Given the description of an element on the screen output the (x, y) to click on. 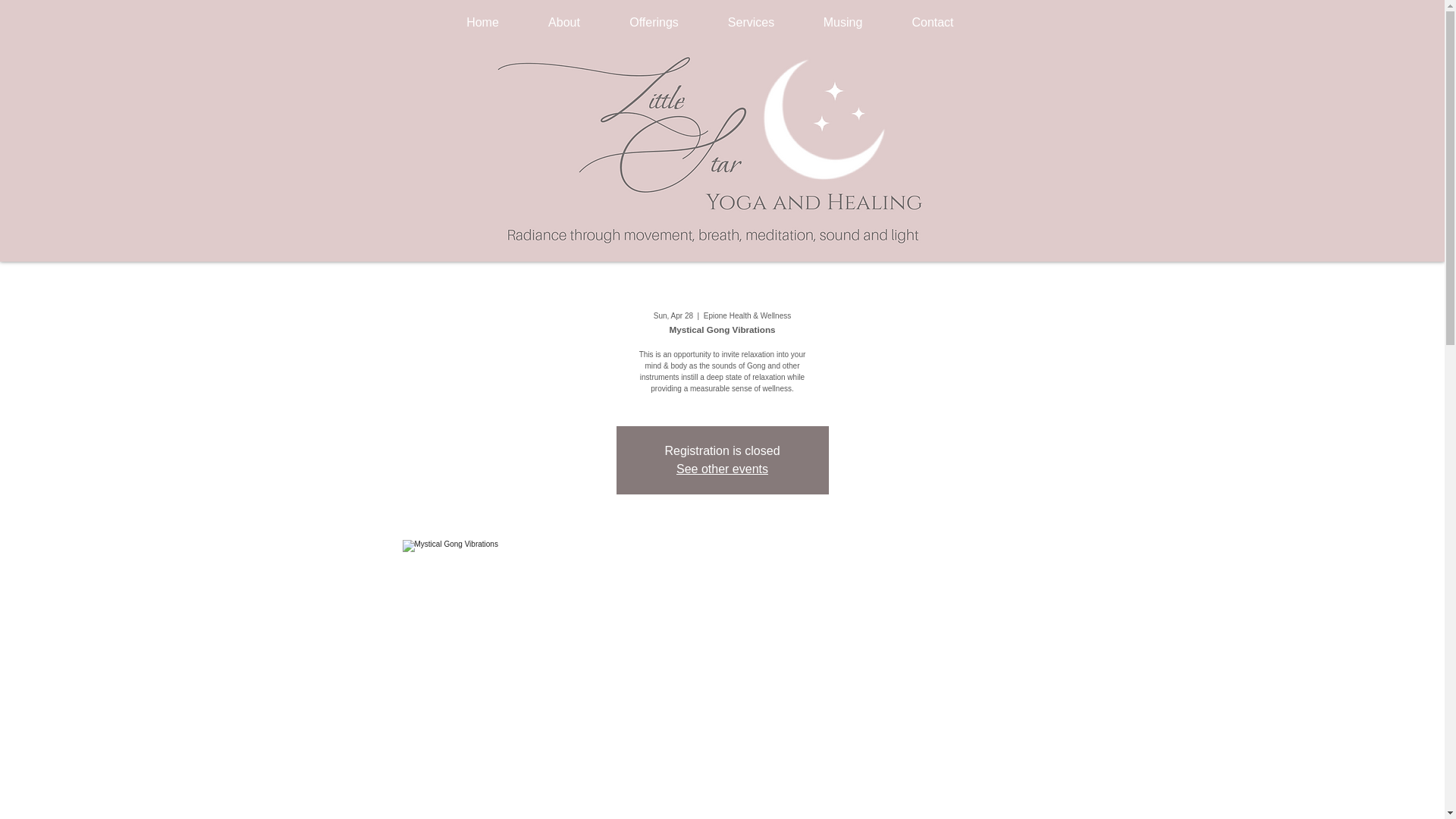
See other events (722, 468)
Services (751, 22)
Home (481, 22)
Contact (932, 22)
logo biz pnk what moonFB2 page cover cop (709, 151)
About (563, 22)
Offerings (654, 22)
Musing (842, 22)
